Given the description of an element on the screen output the (x, y) to click on. 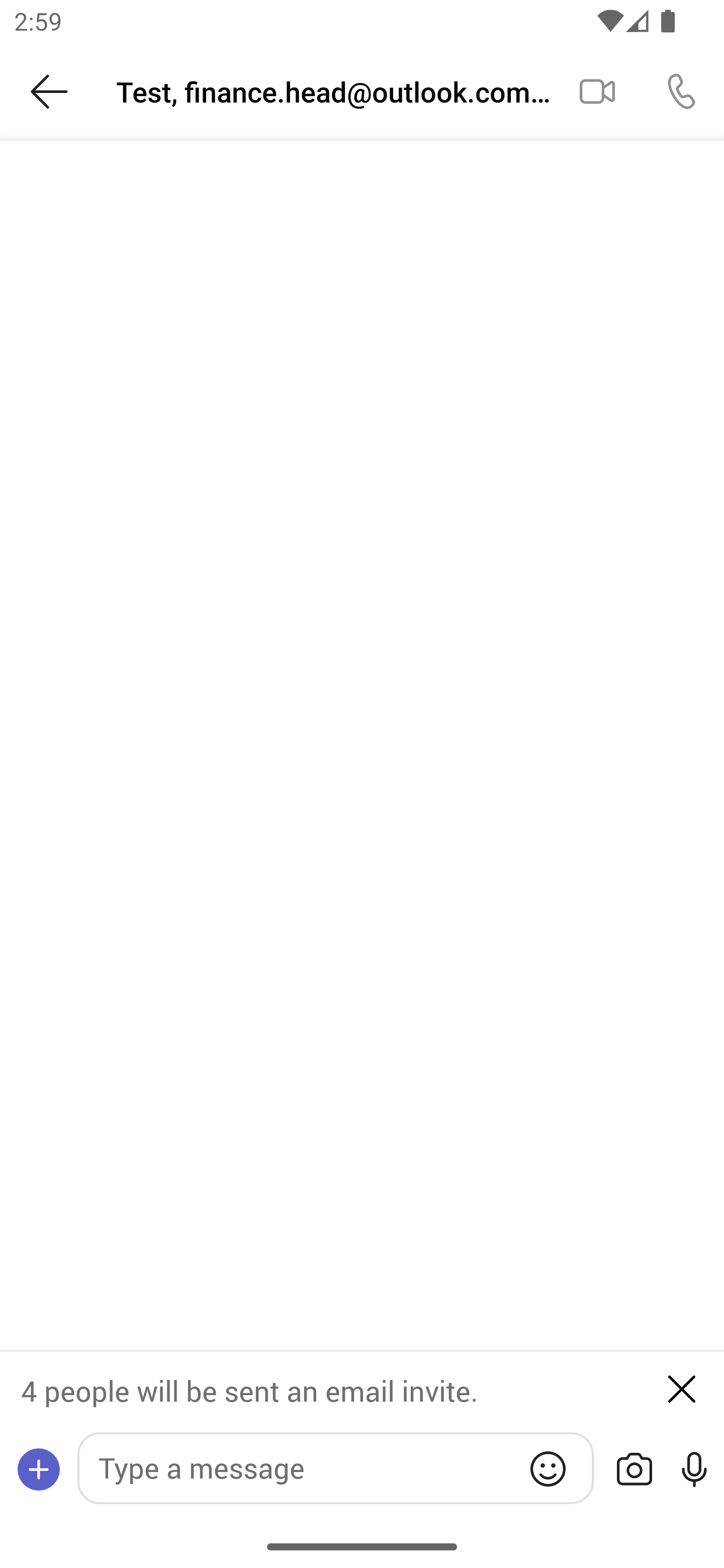
Back (49, 91)
Video Call (597, 90)
Audio Call (681, 90)
Close button (681, 1388)
Compose options, collapsed (38, 1469)
Button for loading camera action functionality (633, 1469)
Type a message (335, 1467)
GIFs and emojis picker (548, 1468)
